Given the description of an element on the screen output the (x, y) to click on. 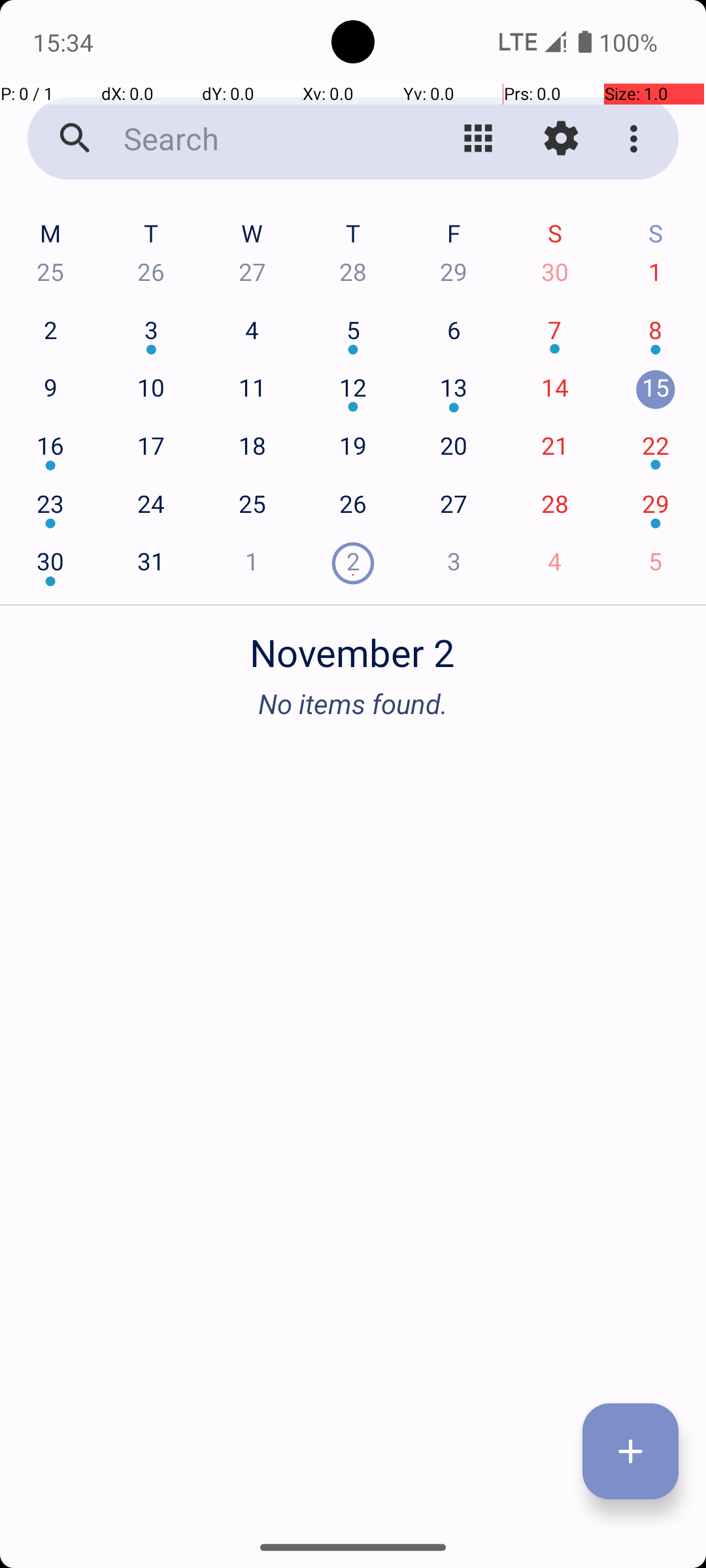
November 2 Element type: android.widget.TextView (352, 644)
